Given the description of an element on the screen output the (x, y) to click on. 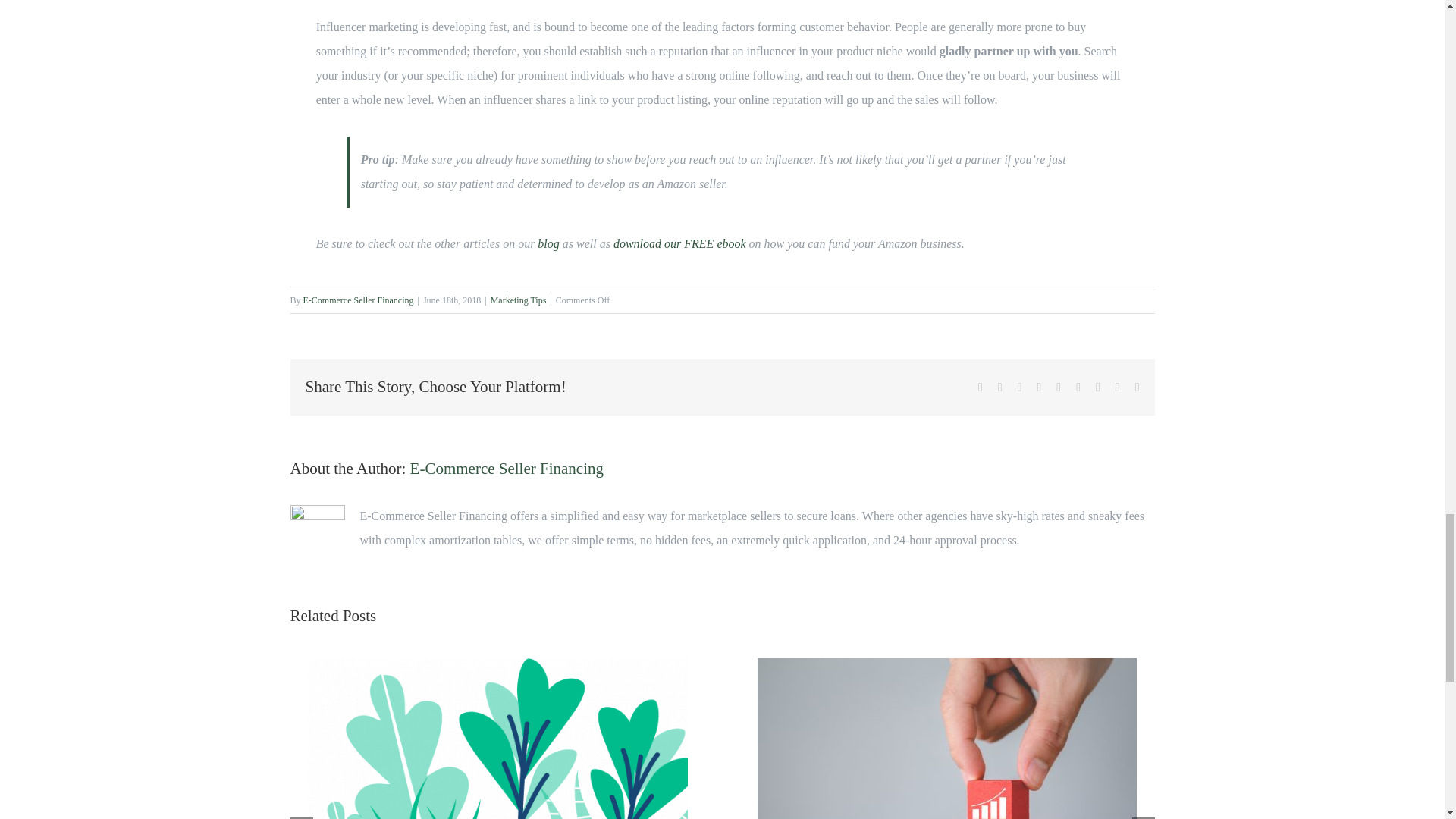
Marketing Tips (518, 299)
blog (548, 243)
E-Commerce Seller Financing (507, 468)
Posts by E-Commerce Seller Financing (357, 299)
download our FREE ebook (678, 243)
Posts by E-Commerce Seller Financing (507, 468)
E-Commerce Seller Financing (357, 299)
